Given the description of an element on the screen output the (x, y) to click on. 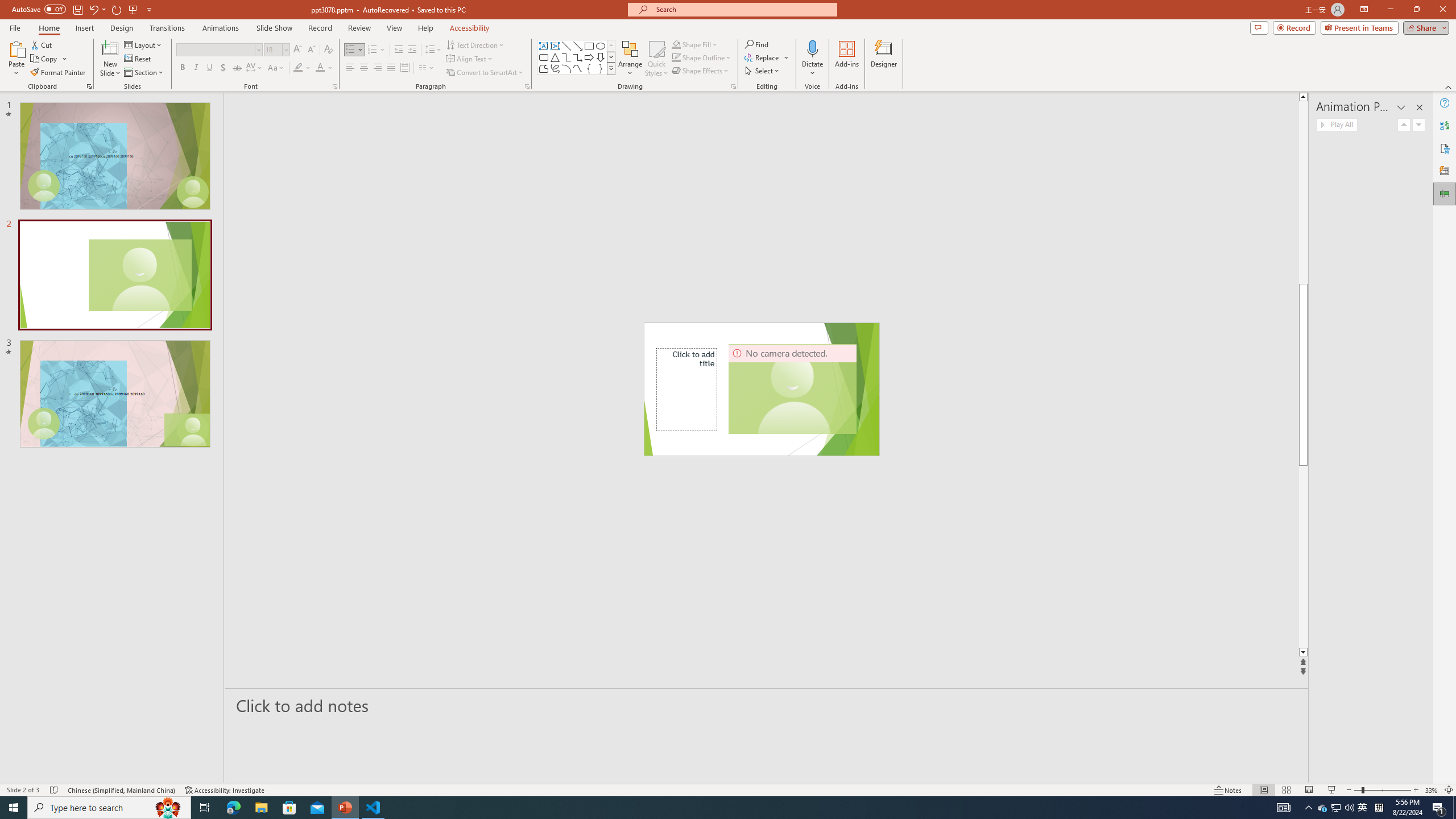
Zoom 33% (1431, 790)
Animation Pane (1444, 193)
